Given the description of an element on the screen output the (x, y) to click on. 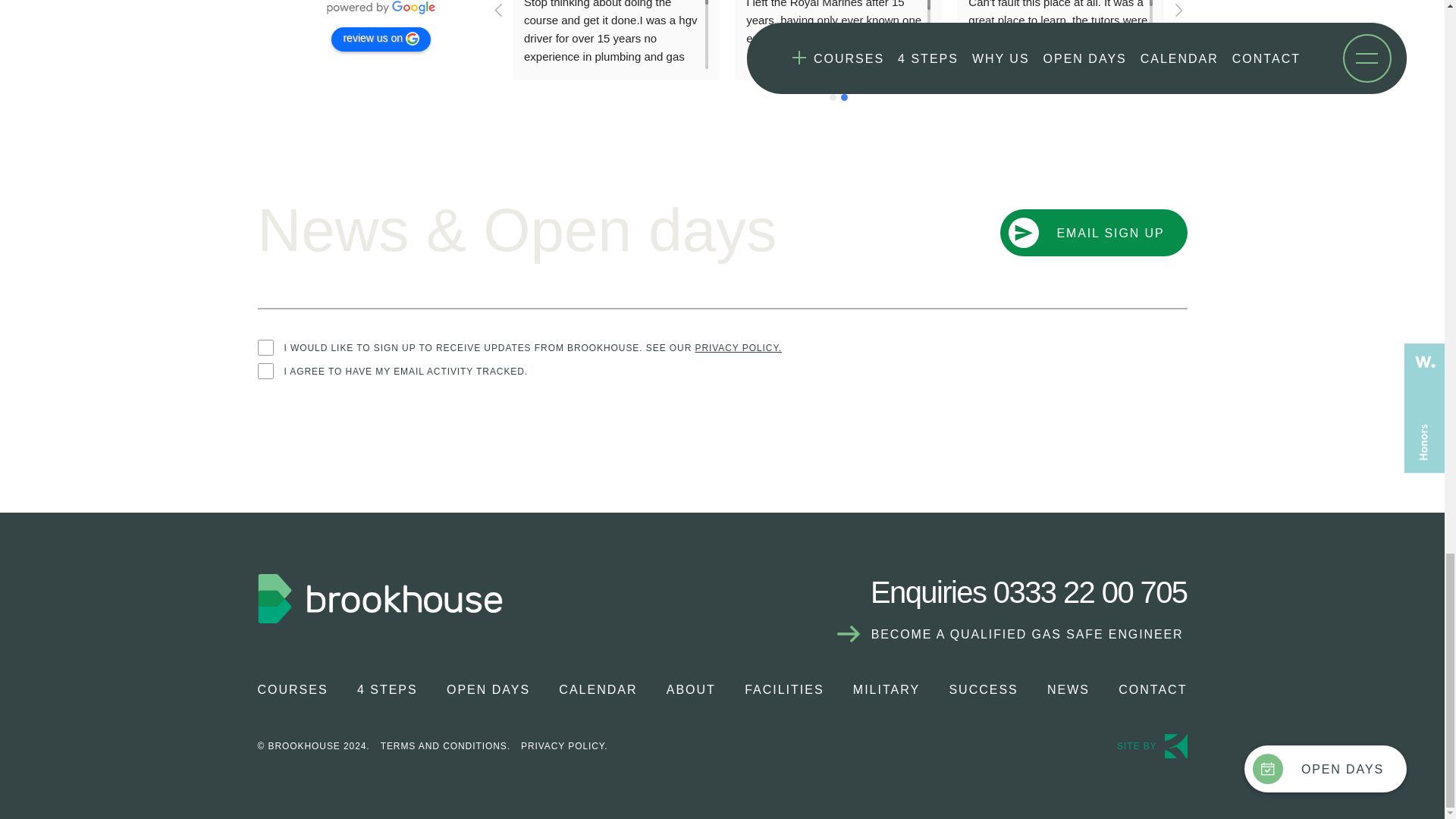
on (265, 347)
powered by Google (380, 7)
on (265, 371)
review us on (380, 39)
